Given the description of an element on the screen output the (x, y) to click on. 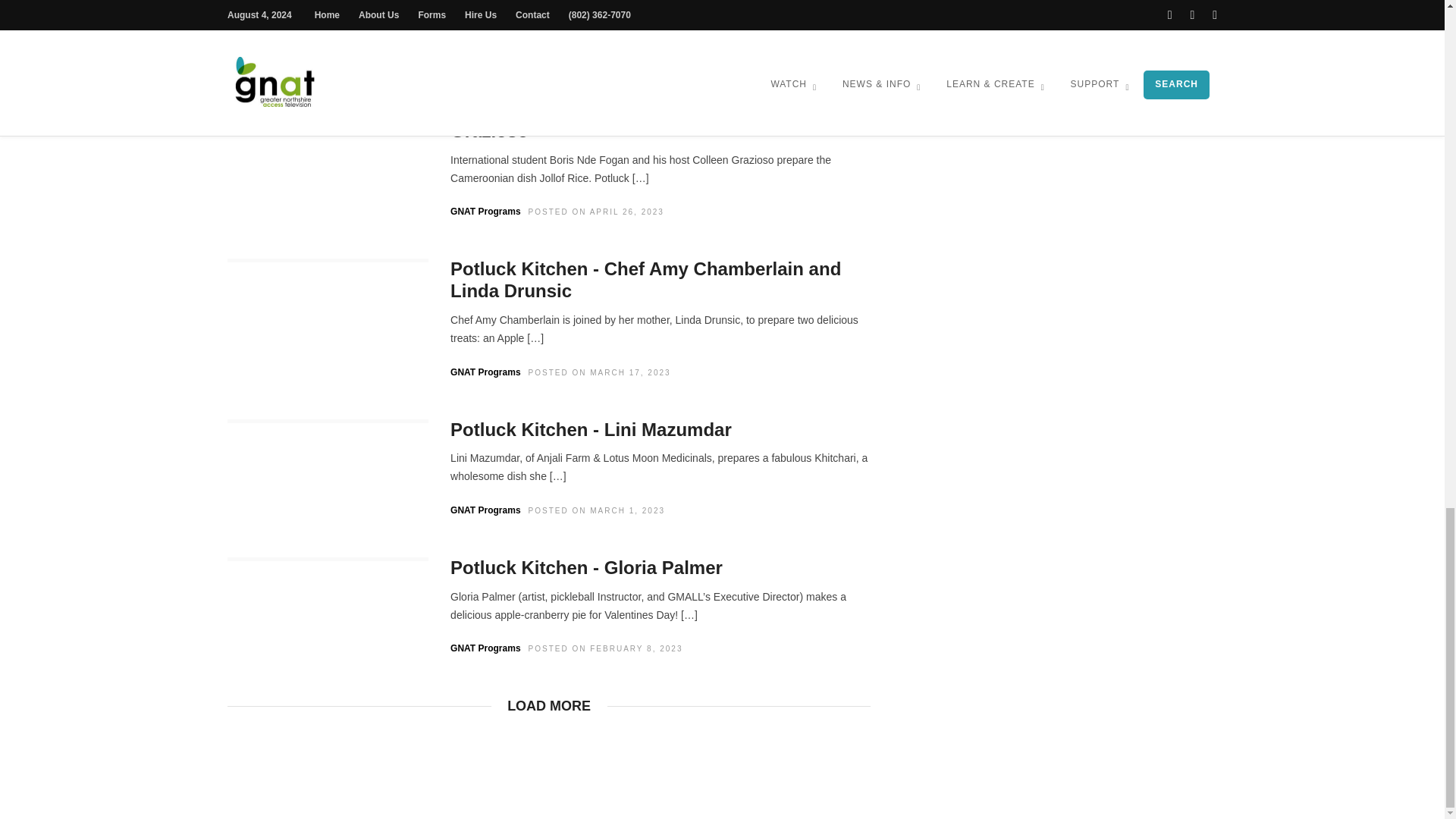
Potluck Kitchen - Boris Nde Fogan and Colleen Grazioso (653, 119)
Potluck Kitchen - Chef Amy Chamberlain and Linda Drunsic (645, 279)
Potluck Kitchen - Lini Mazumdar (590, 429)
Potluck Kitchen - Gloria Palmer (585, 567)
